Given the description of an element on the screen output the (x, y) to click on. 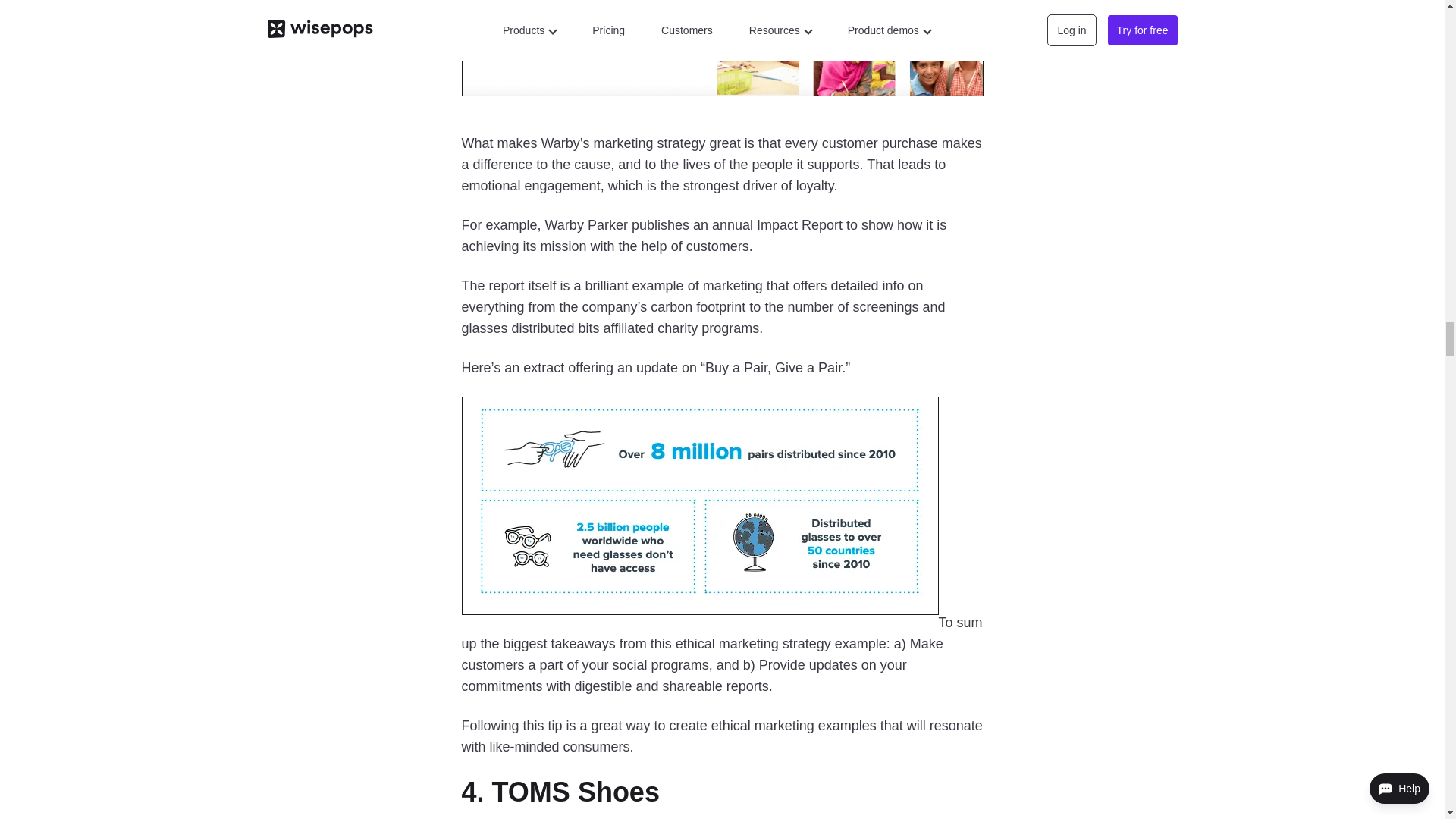
TOMS Shoes (575, 791)
Impact Report (800, 224)
